Given the description of an element on the screen output the (x, y) to click on. 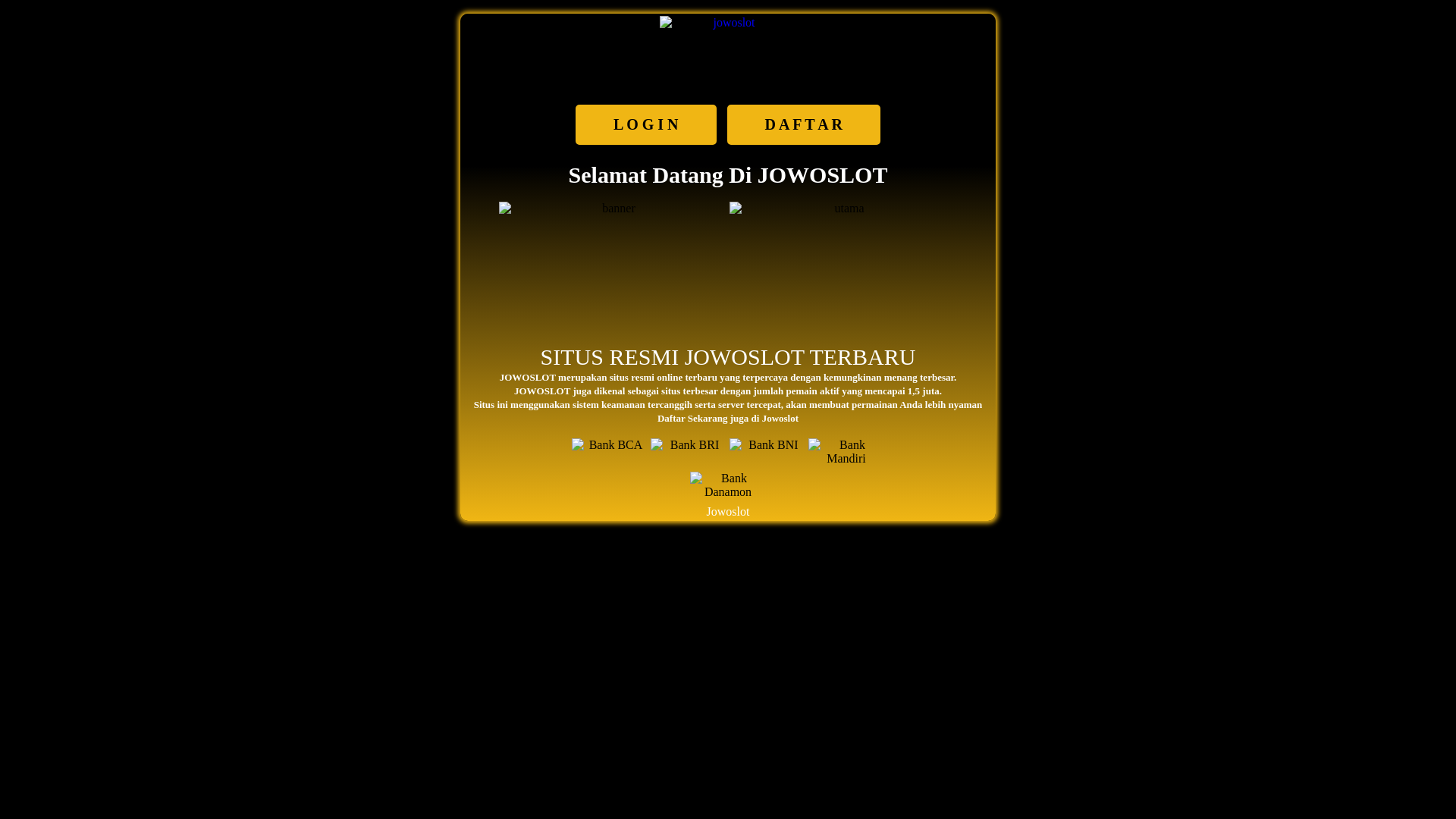
jowoslot (727, 49)
D A F T A R (803, 124)
L O G I N (646, 124)
Bank Mandiri (845, 453)
Bank BRI (688, 453)
jowoslot (612, 250)
jowoslot (842, 250)
Bank BNI (767, 453)
Bank BCA (609, 453)
Bank Danamon (727, 486)
